Given the description of an element on the screen output the (x, y) to click on. 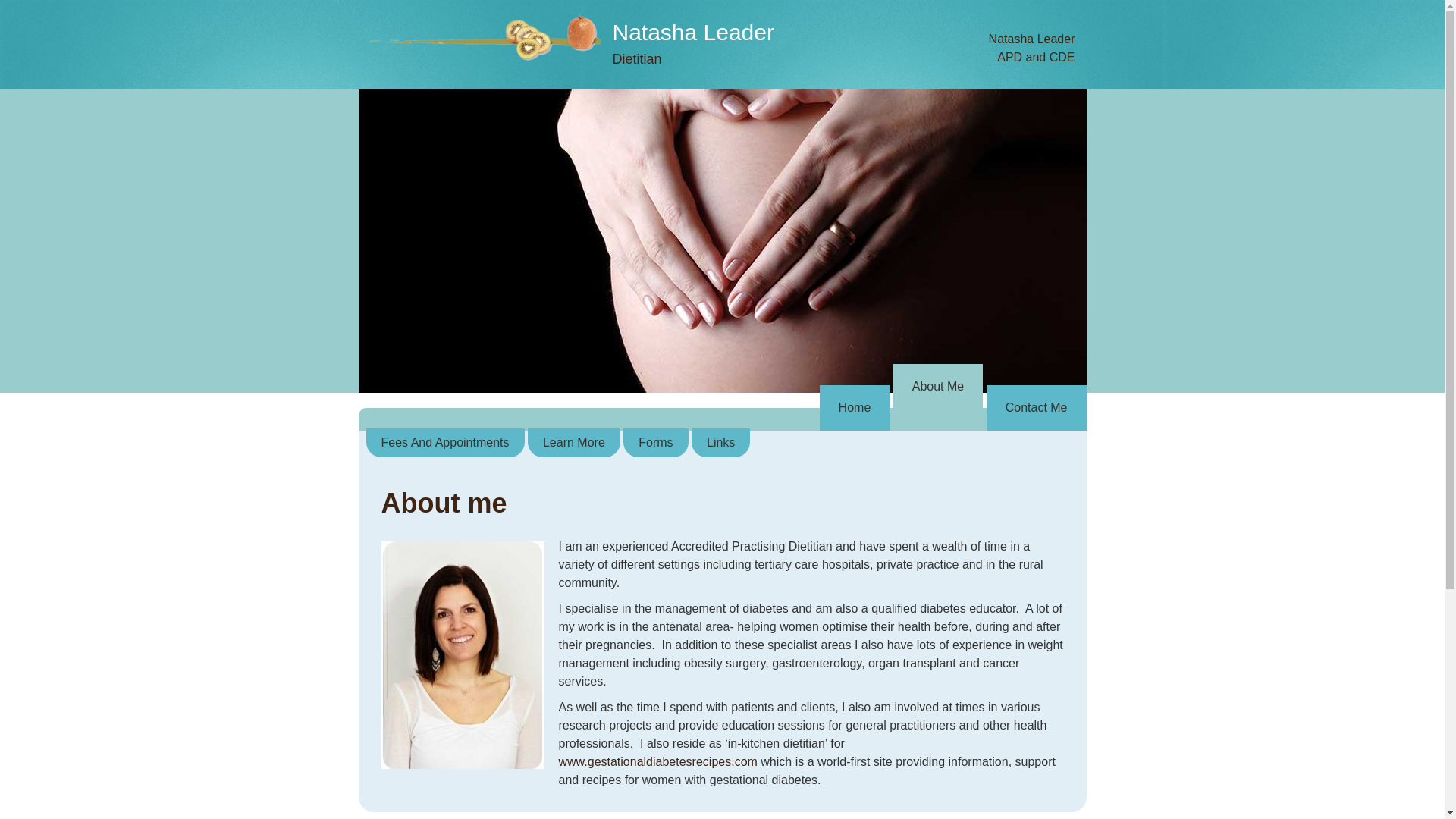
www.gestationaldiabetesrecipes.com Element type: text (657, 761)
About Me Element type: text (937, 386)
Forms Element type: text (655, 442)
Home Element type: text (854, 407)
Contact Me Element type: text (1036, 407)
Links Element type: text (720, 442)
Natasha Leader Element type: text (692, 31)
Fees And Appointments Element type: text (444, 442)
Learn More Element type: text (573, 442)
